Given the description of an element on the screen output the (x, y) to click on. 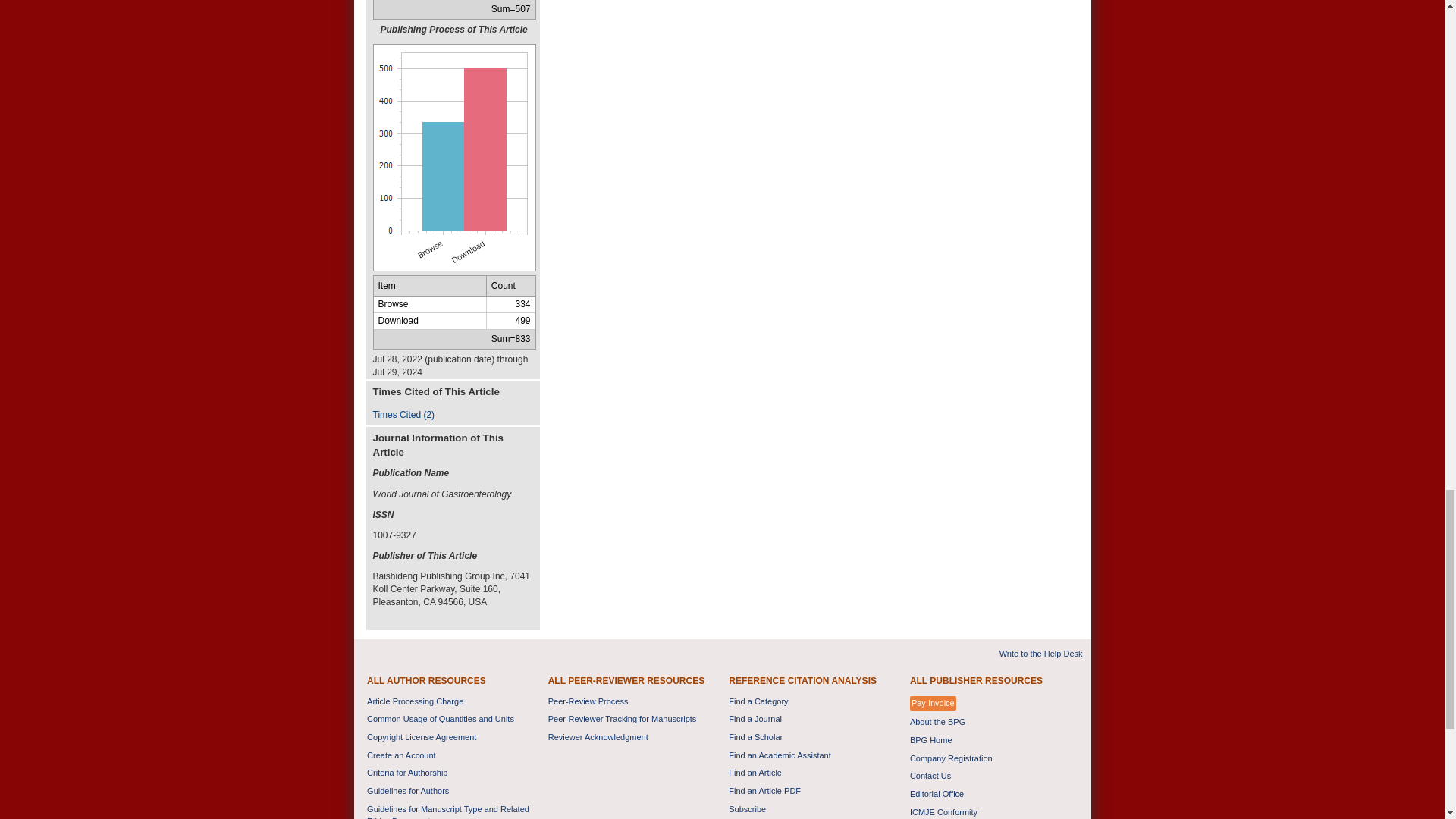
Pay Invoice (933, 703)
